Given the description of an element on the screen output the (x, y) to click on. 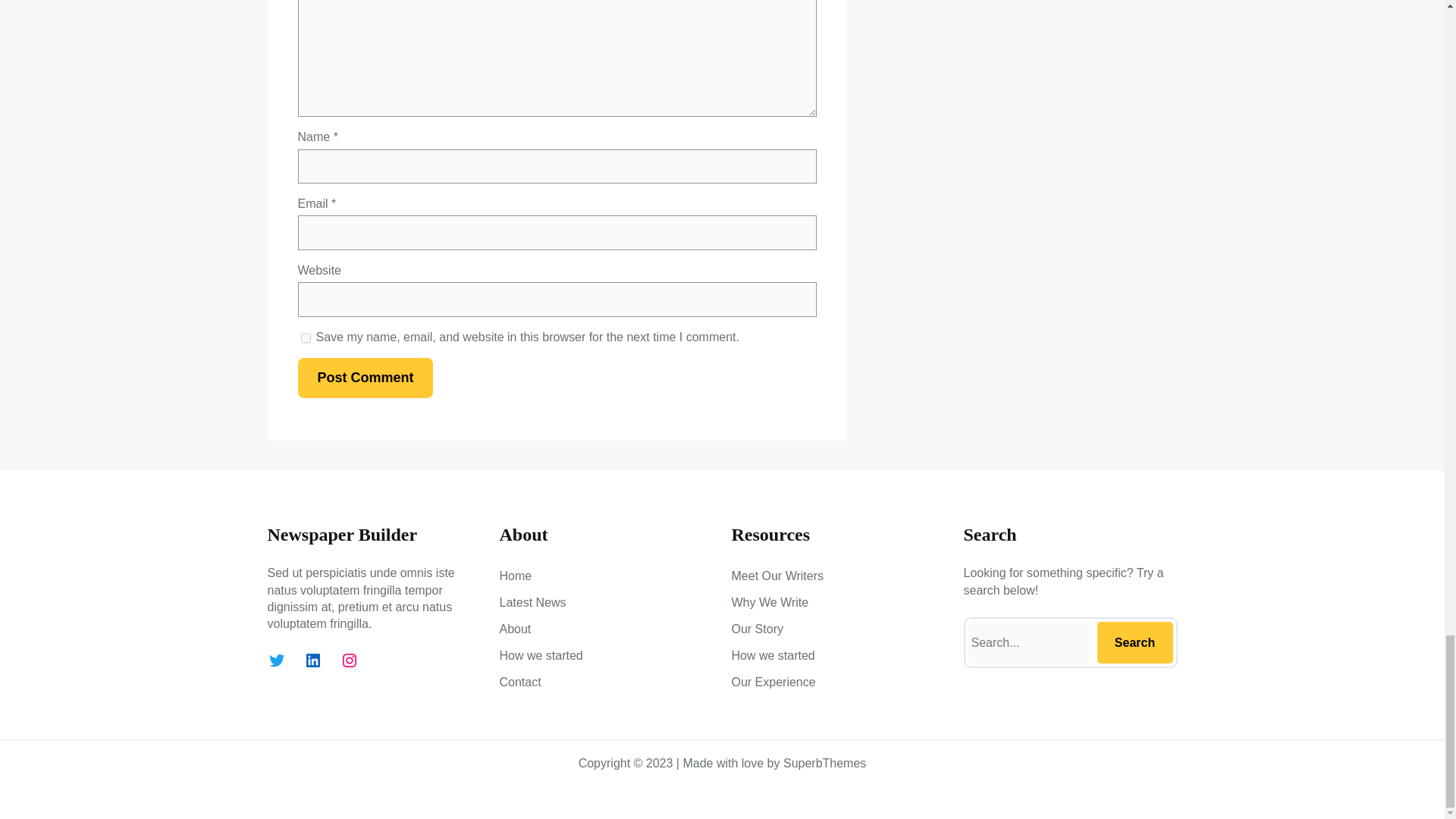
Twitter (275, 660)
Post Comment (364, 377)
Instagram (348, 660)
Post Comment (364, 377)
LinkedIn (311, 660)
yes (304, 337)
